Given the description of an element on the screen output the (x, y) to click on. 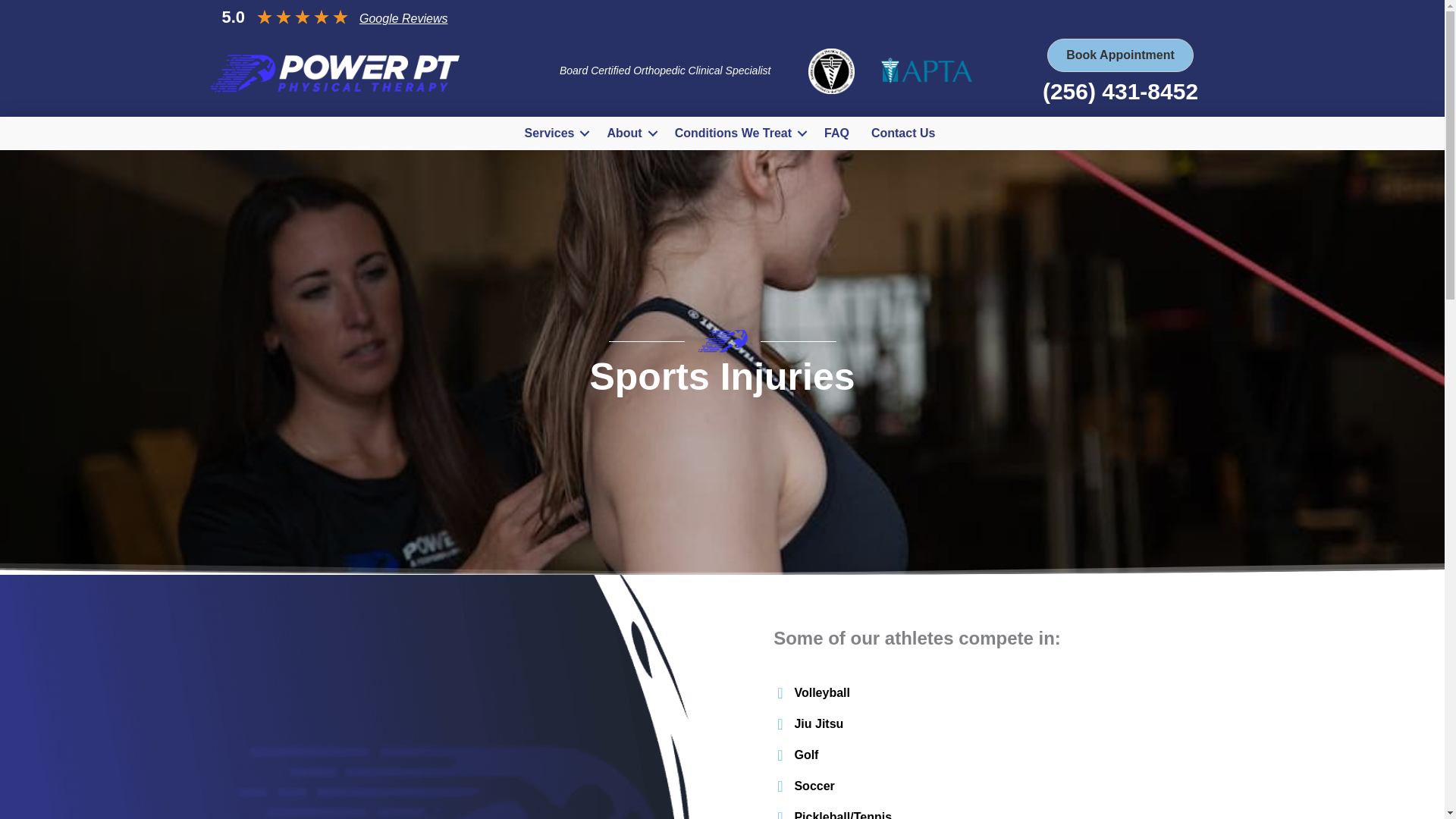
Book Appointment (1119, 55)
FAQ (836, 133)
Google Reviews (403, 18)
logo-edited (334, 73)
Contact Us (902, 133)
About (628, 133)
Conditions We Treat (737, 133)
Services (554, 133)
